Given the description of an element on the screen output the (x, y) to click on. 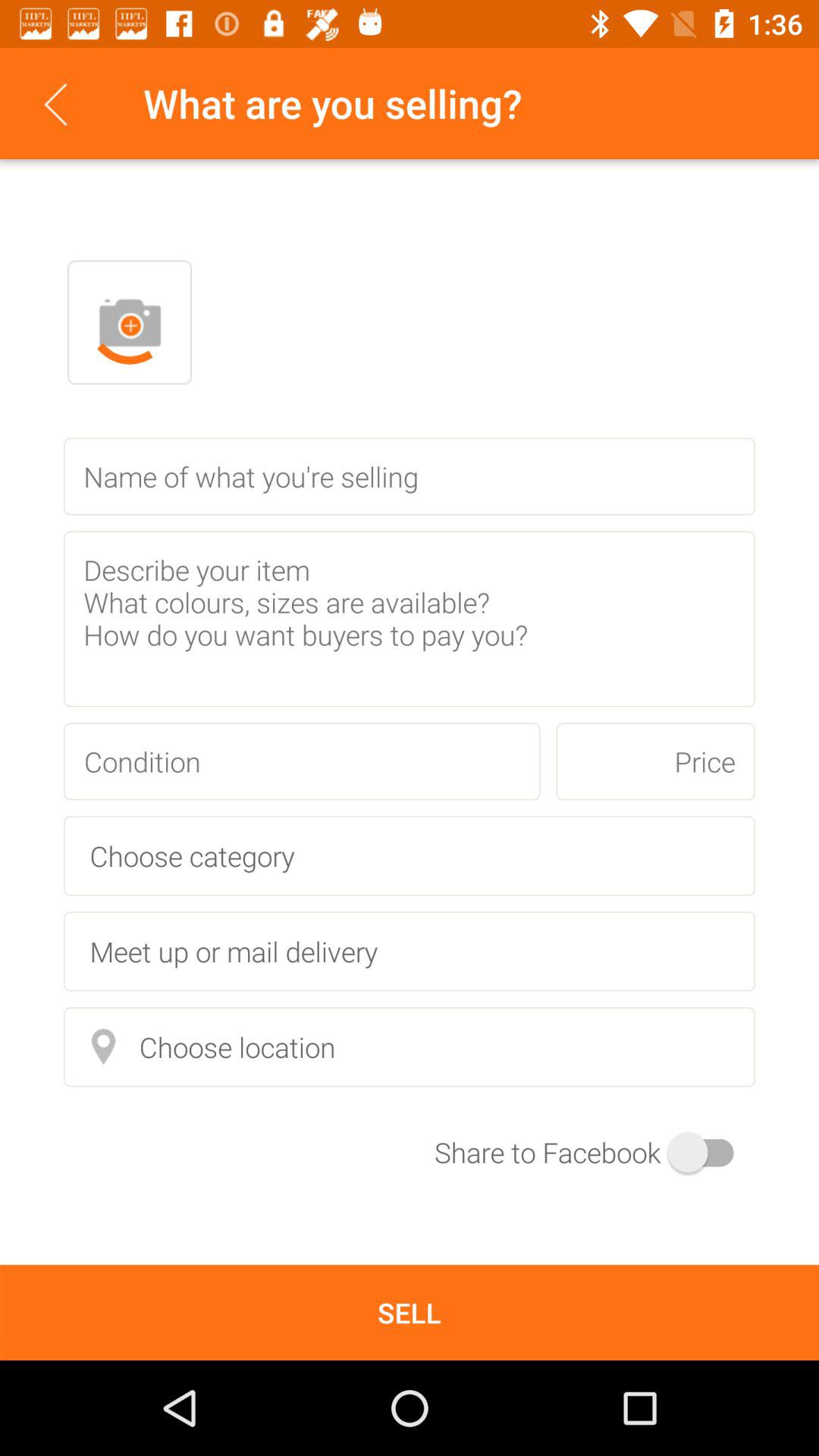
turn on item above the share to facebook (409, 1046)
